Given the description of an element on the screen output the (x, y) to click on. 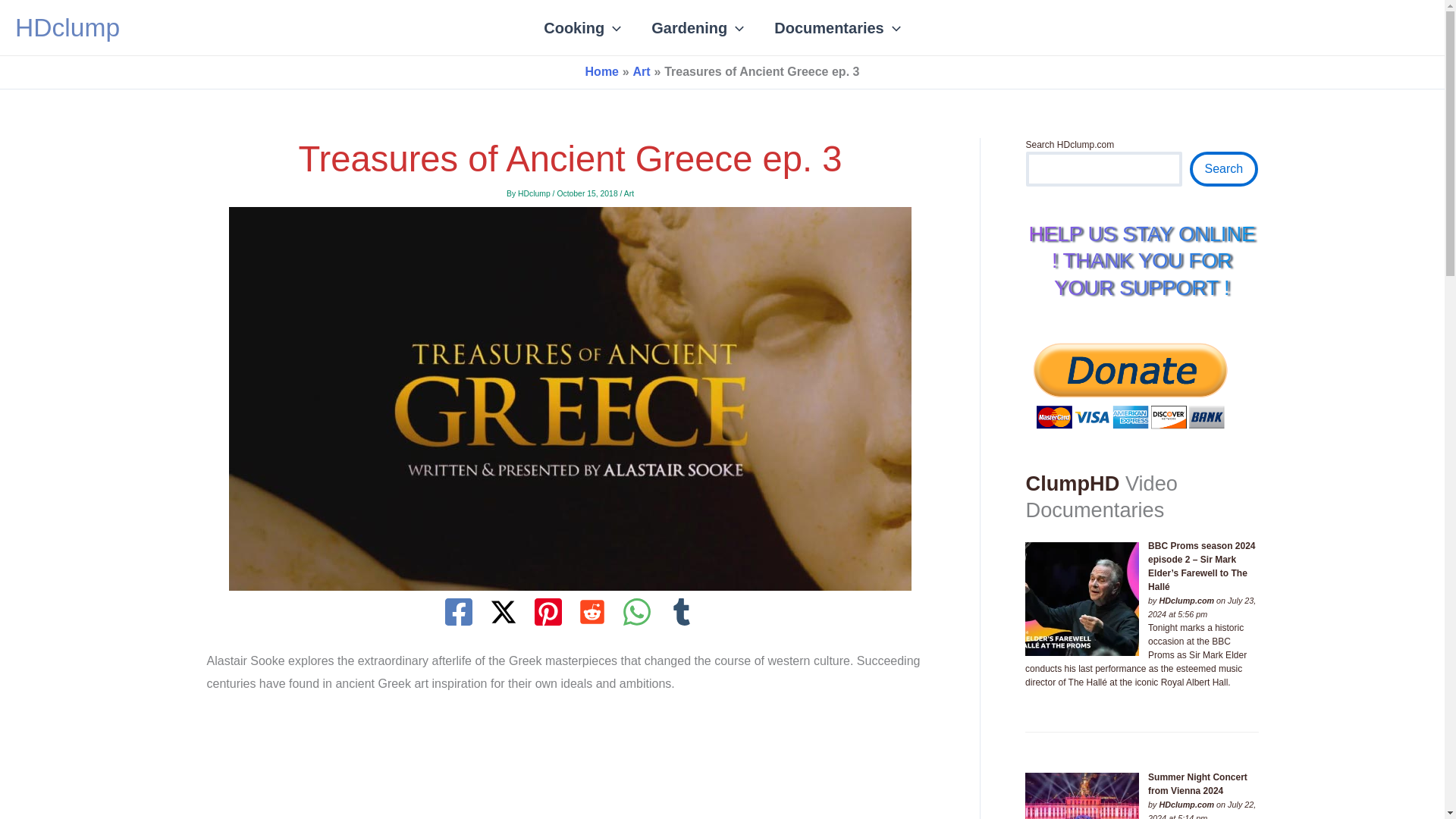
Summer Night Concert from Vienna 2024 (1081, 796)
clumphd.com (1186, 600)
PayPal - The safer, easier way to pay online! (1129, 383)
HDclump (66, 27)
Cooking (582, 27)
View all posts by HDclump (535, 193)
